Given the description of an element on the screen output the (x, y) to click on. 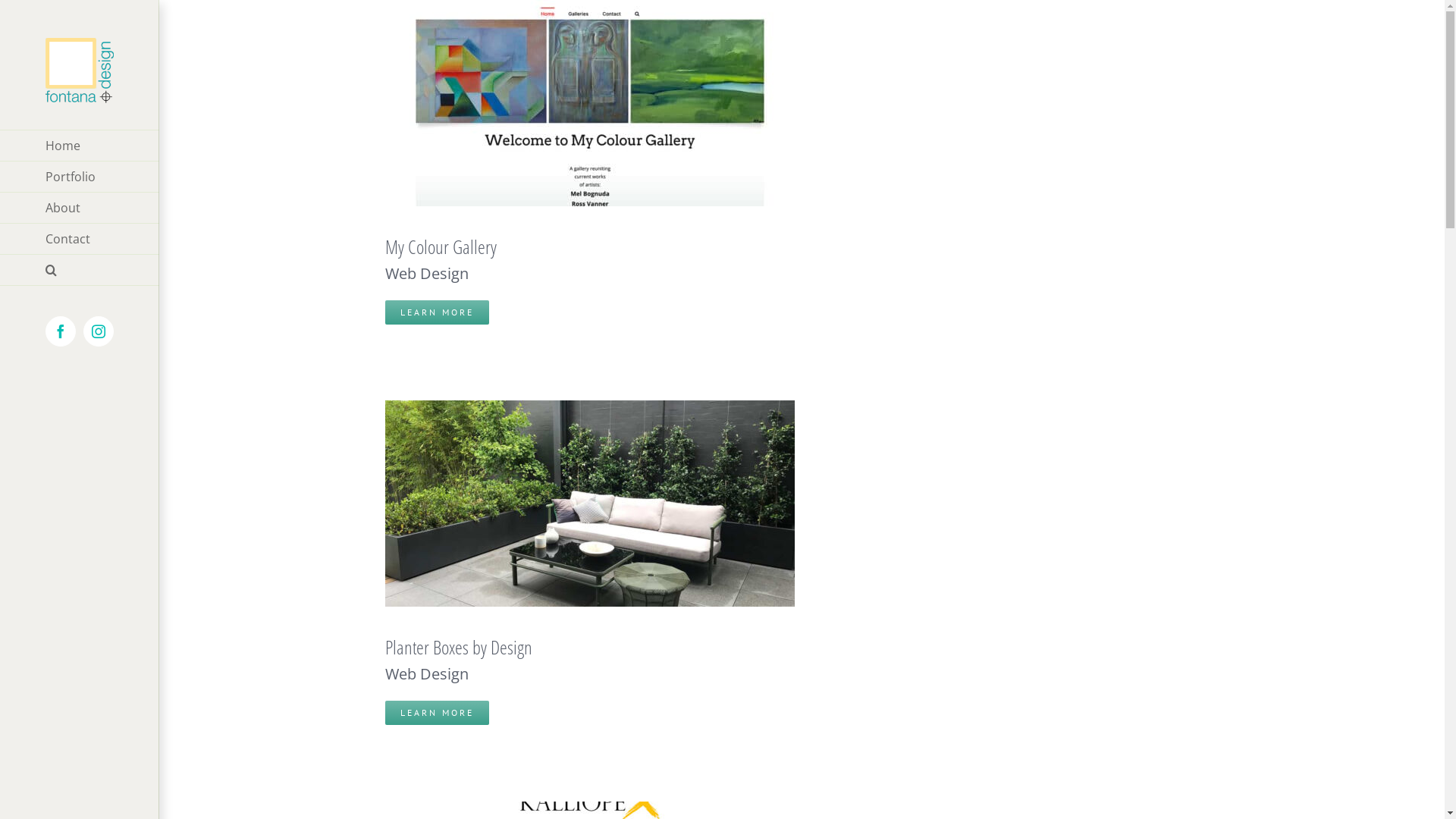
Planter Boxes by Design Element type: text (458, 646)
About Element type: text (79, 207)
Instagram Element type: text (98, 331)
Web Design Element type: text (426, 272)
Contact Element type: text (79, 238)
LEARN MORE Element type: text (437, 712)
My Colour Gallery Element type: text (440, 246)
Facebook Element type: text (60, 331)
LEARN MORE Element type: text (437, 312)
Search Element type: hover (79, 269)
Home Element type: text (79, 145)
Portfolio Element type: text (79, 176)
Web Design Element type: text (426, 672)
